Given the description of an element on the screen output the (x, y) to click on. 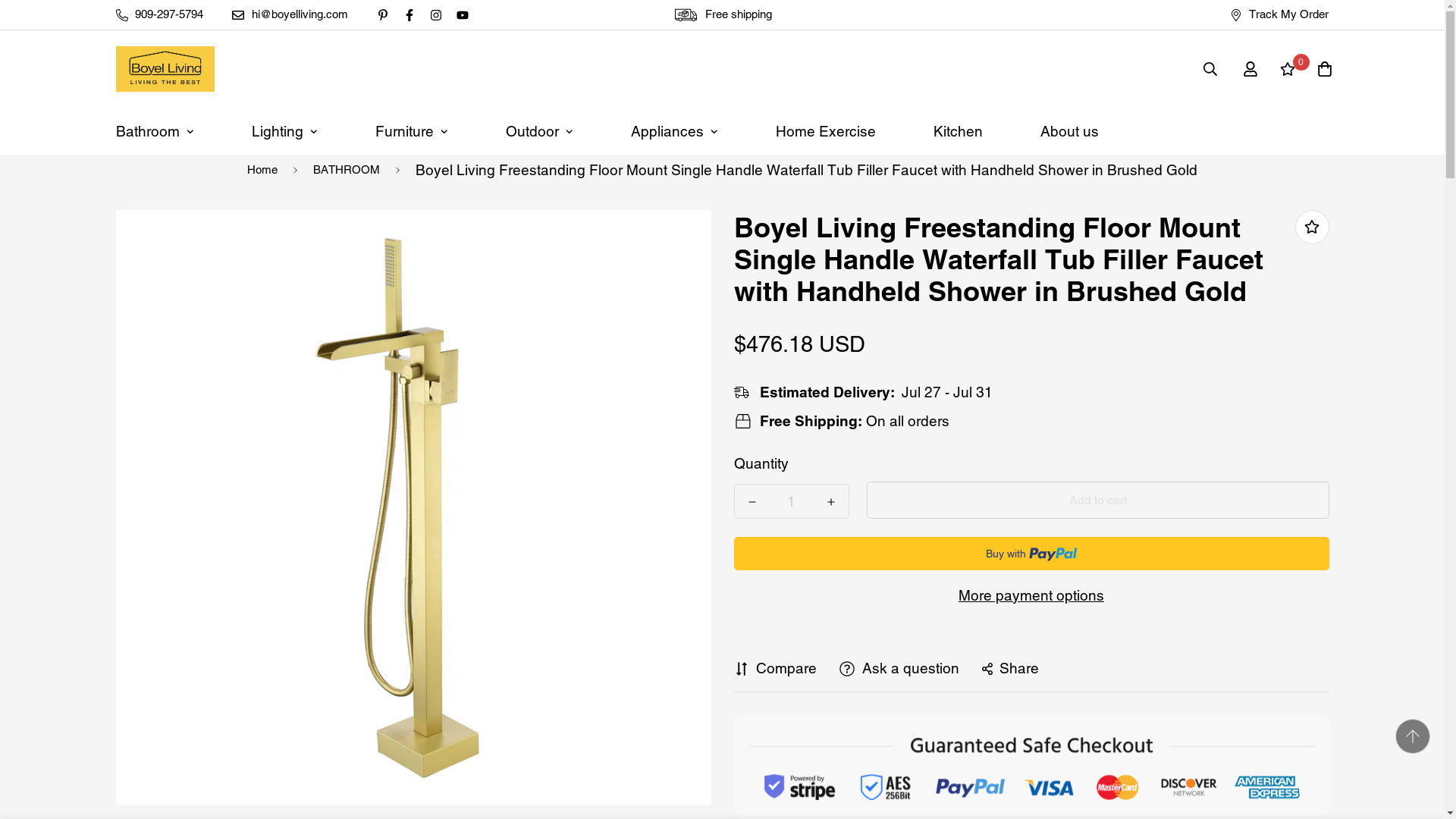
1 (790, 500)
Home Exercise (824, 131)
Appliances (674, 131)
Back to the home page (262, 170)
BOYEL LIVING (164, 69)
Lighting (284, 131)
909-297-5794 (159, 14)
Bathroom (153, 131)
Furniture (411, 131)
Outdoor (538, 131)
Track My Order (1279, 14)
